Given the description of an element on the screen output the (x, y) to click on. 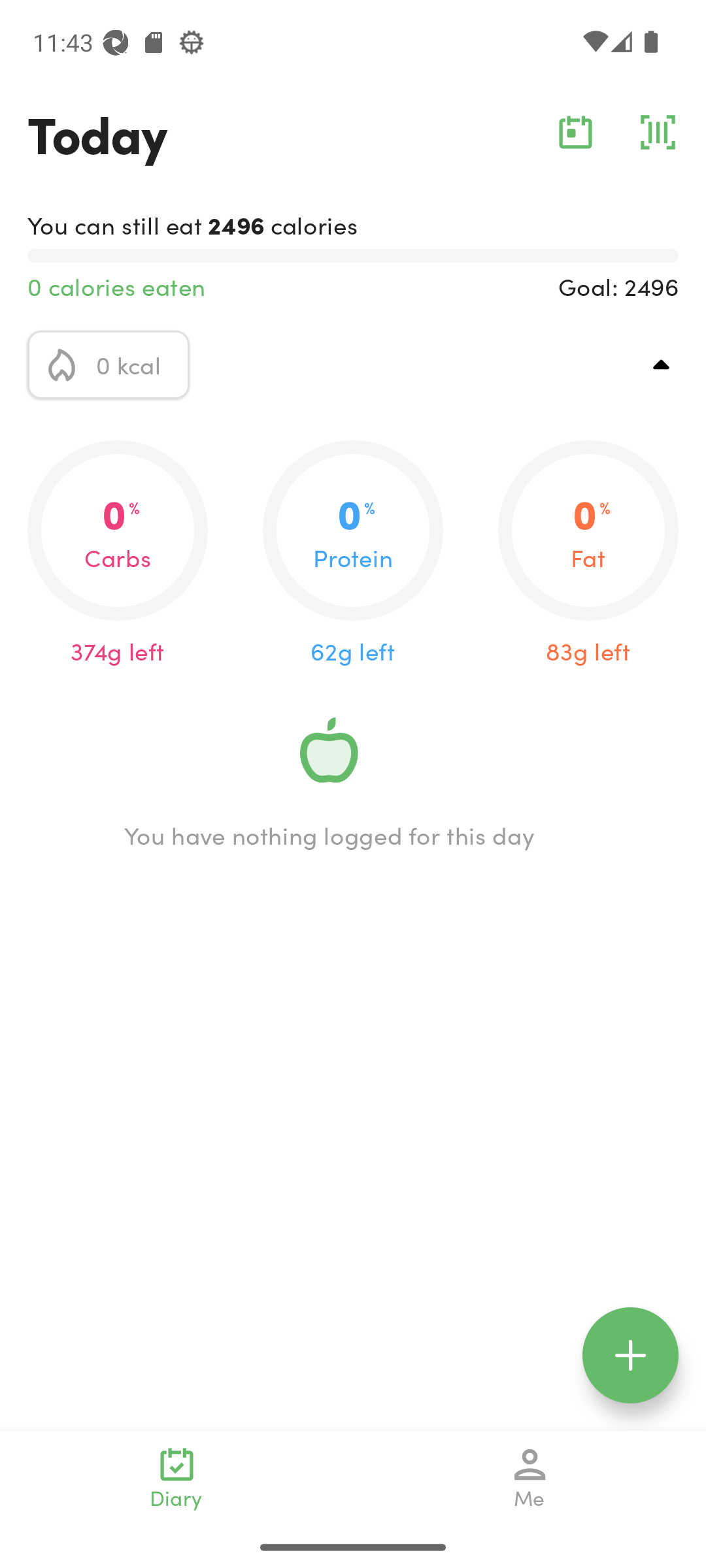
calendar_action (575, 132)
barcode_action (658, 132)
calorie_icon 0 kcal (108, 365)
top_right_action (661, 365)
0.0 0 % Carbs 374g left (117, 553)
0.0 0 % Protein 62g left (352, 553)
0.0 0 % Fat 83g left (588, 553)
floating_action_icon (630, 1355)
Me navigation_icon (529, 1478)
